Given the description of an element on the screen output the (x, y) to click on. 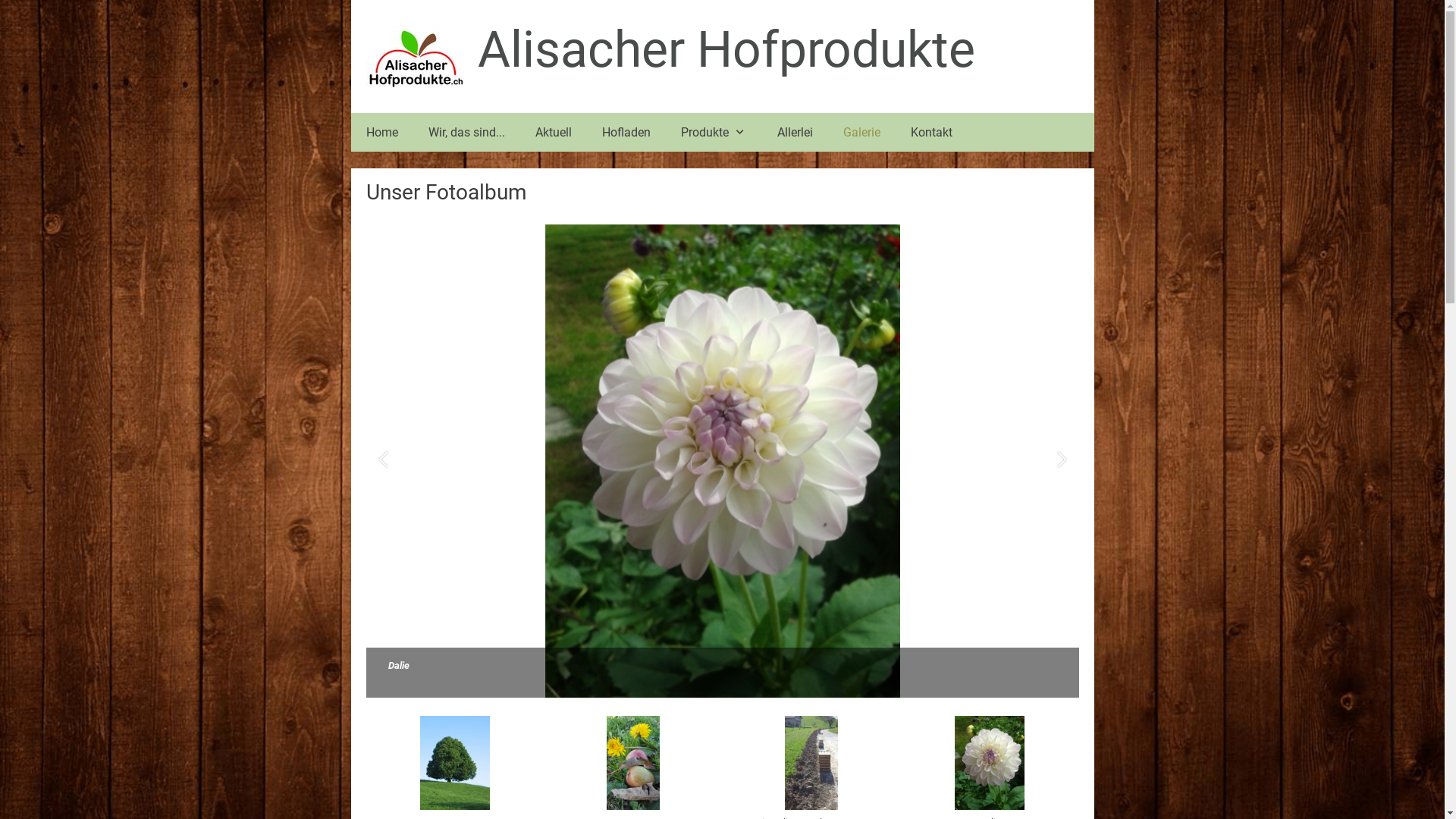
Allerlei Element type: text (795, 131)
Galerie Element type: text (861, 131)
Aktuell Element type: text (553, 131)
Alisacher Hofprodukte Element type: text (726, 49)
Wir, das sind... Element type: text (465, 131)
Home Element type: text (381, 131)
Kontakt Element type: text (931, 131)
Die Dalien werden gesetzt. Element type: hover (722, 460)
Produkte Element type: text (713, 131)
Hofladen Element type: text (625, 131)
